Given the description of an element on the screen output the (x, y) to click on. 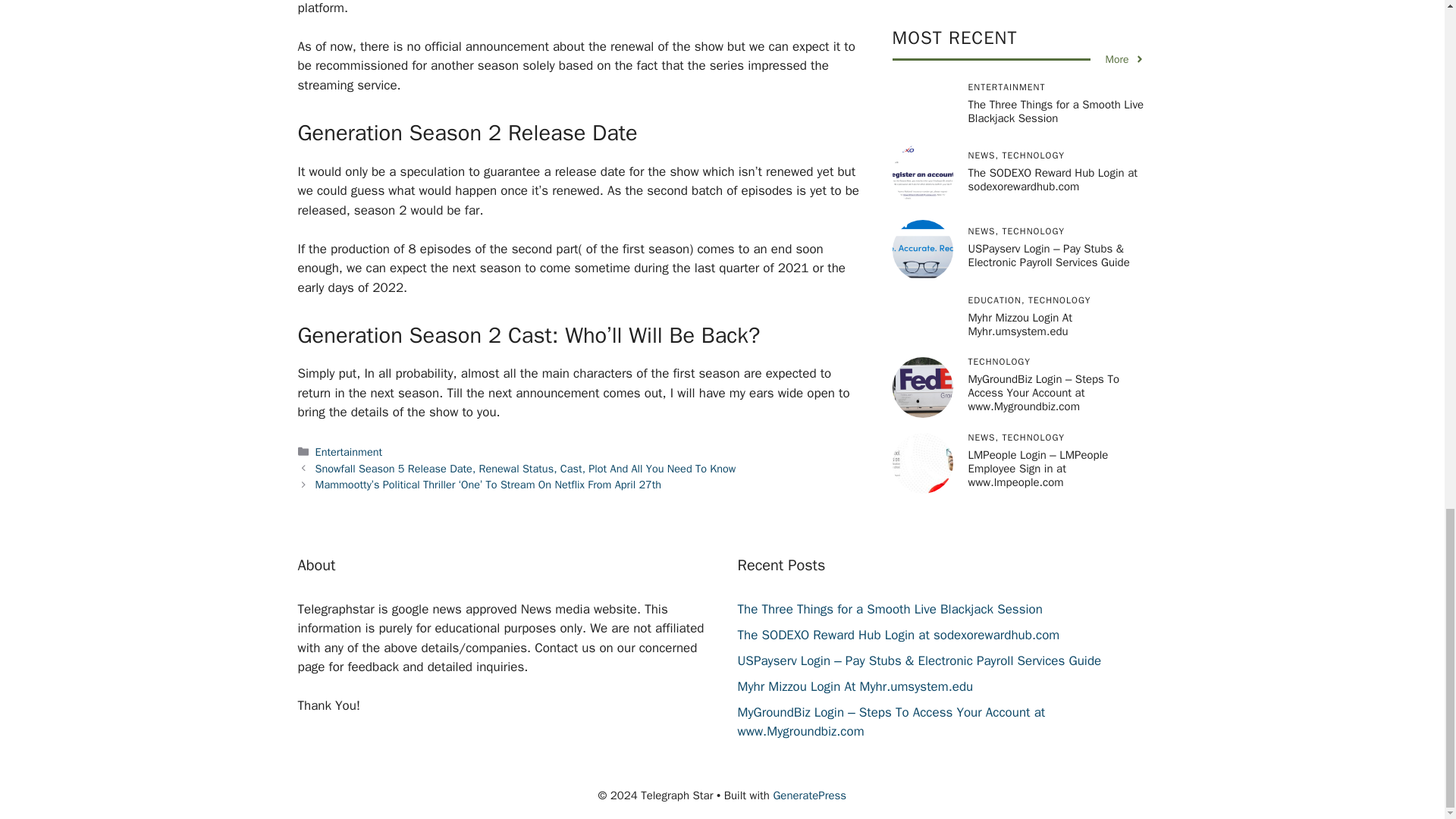
The SODEXO Reward Hub Login at sodexorewardhub.com (897, 634)
The Three Things for a Smooth Live Blackjack Session (889, 609)
Entertainment (348, 451)
Myhr Mizzou Login At Myhr.umsystem.edu (854, 686)
GeneratePress (809, 795)
